Given the description of an element on the screen output the (x, y) to click on. 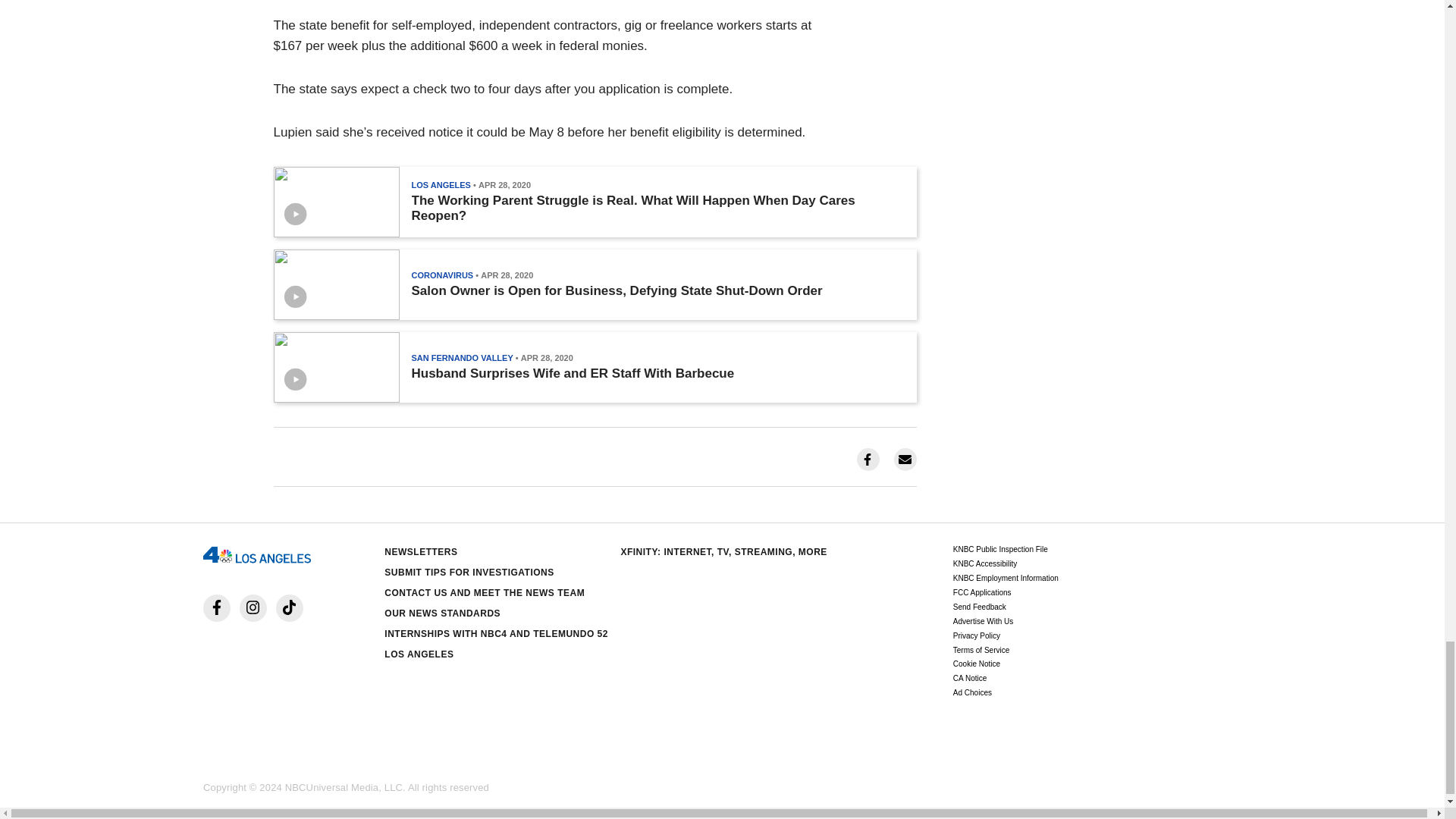
LOS ANGELES (440, 184)
